Given the description of an element on the screen output the (x, y) to click on. 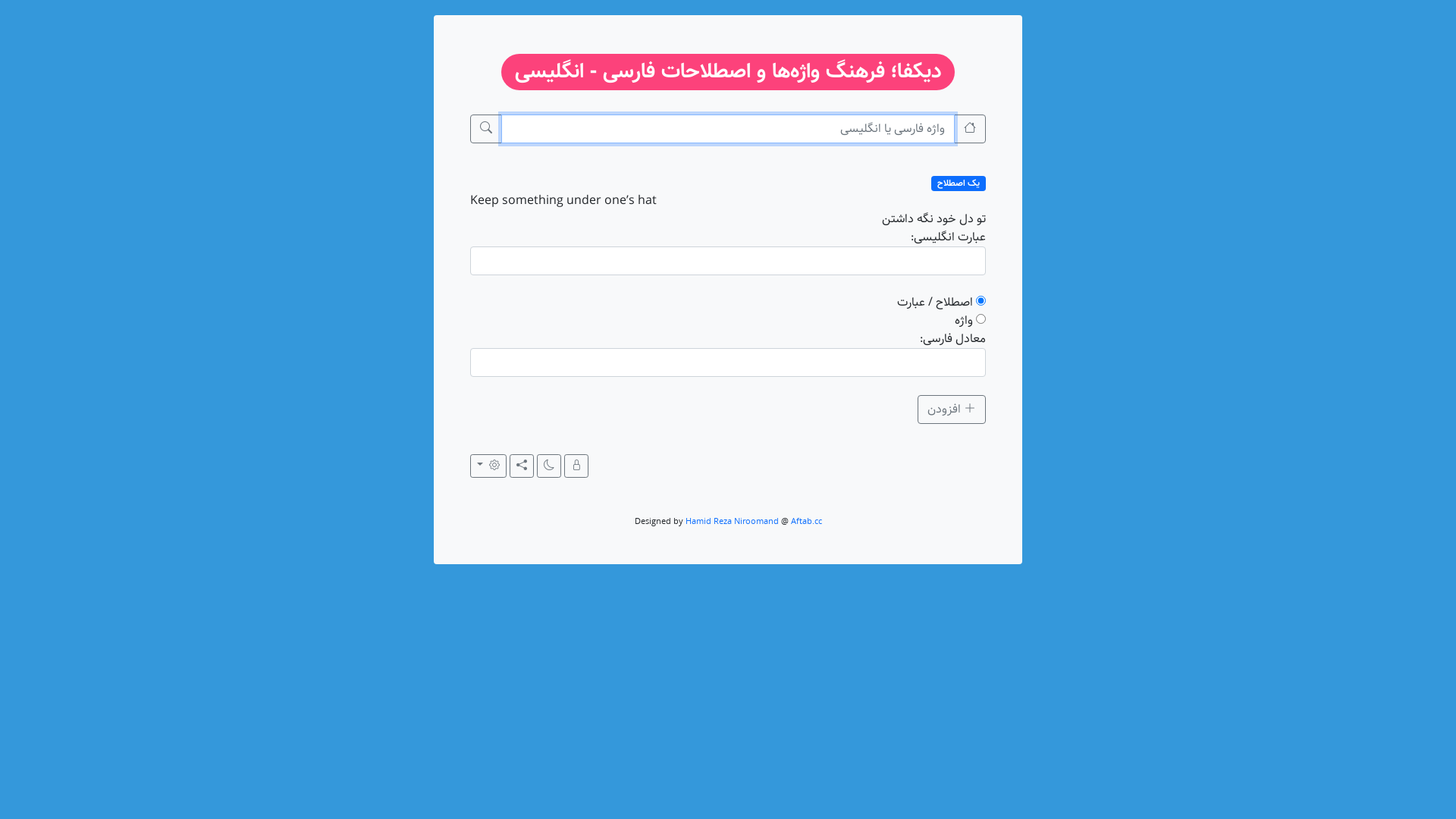
Hamid Reza Niroomand Element type: text (731, 521)
Aftab.cc Element type: text (805, 521)
